Given the description of an element on the screen output the (x, y) to click on. 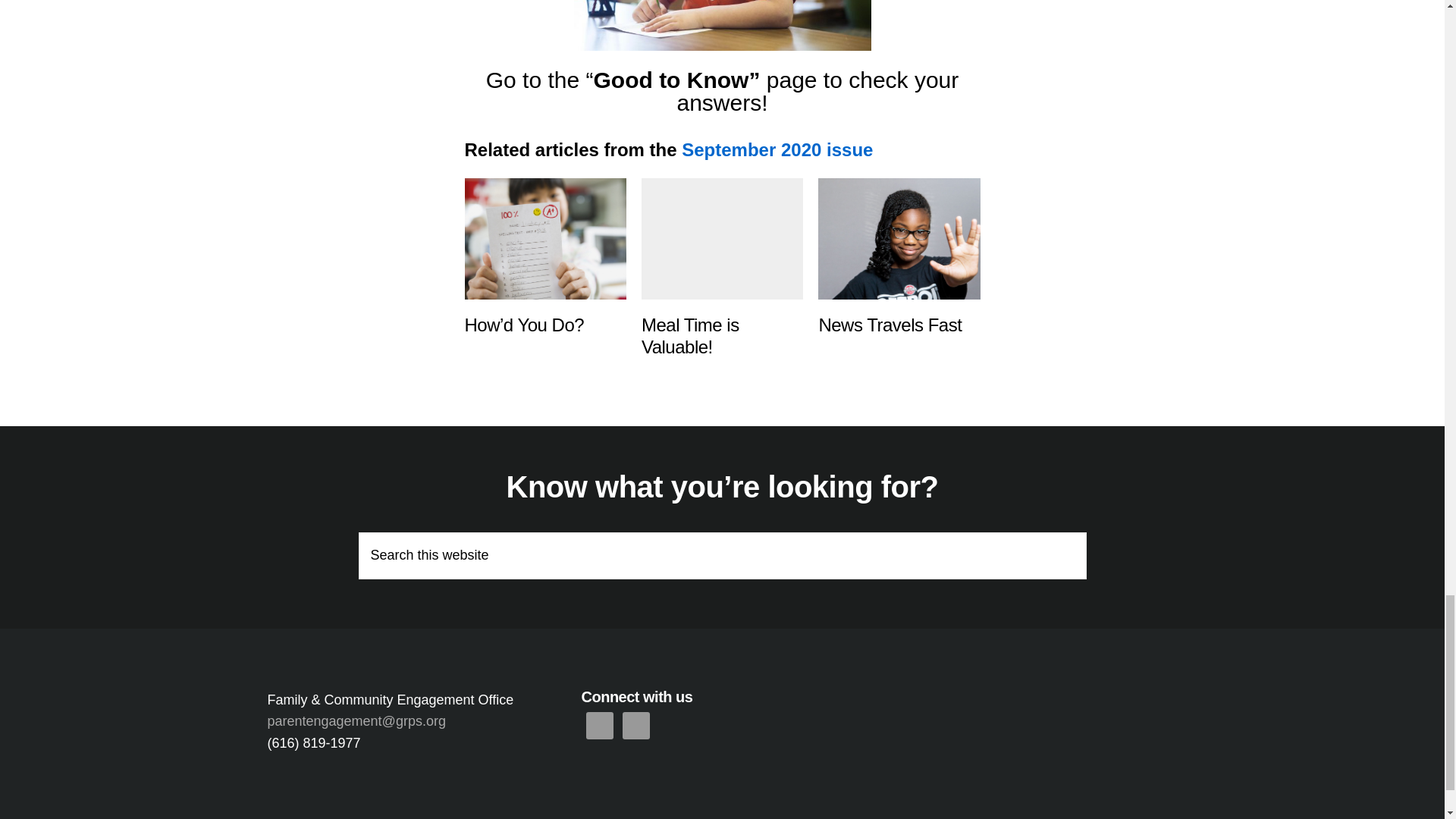
Search (1072, 542)
Search (1072, 542)
